Given the description of an element on the screen output the (x, y) to click on. 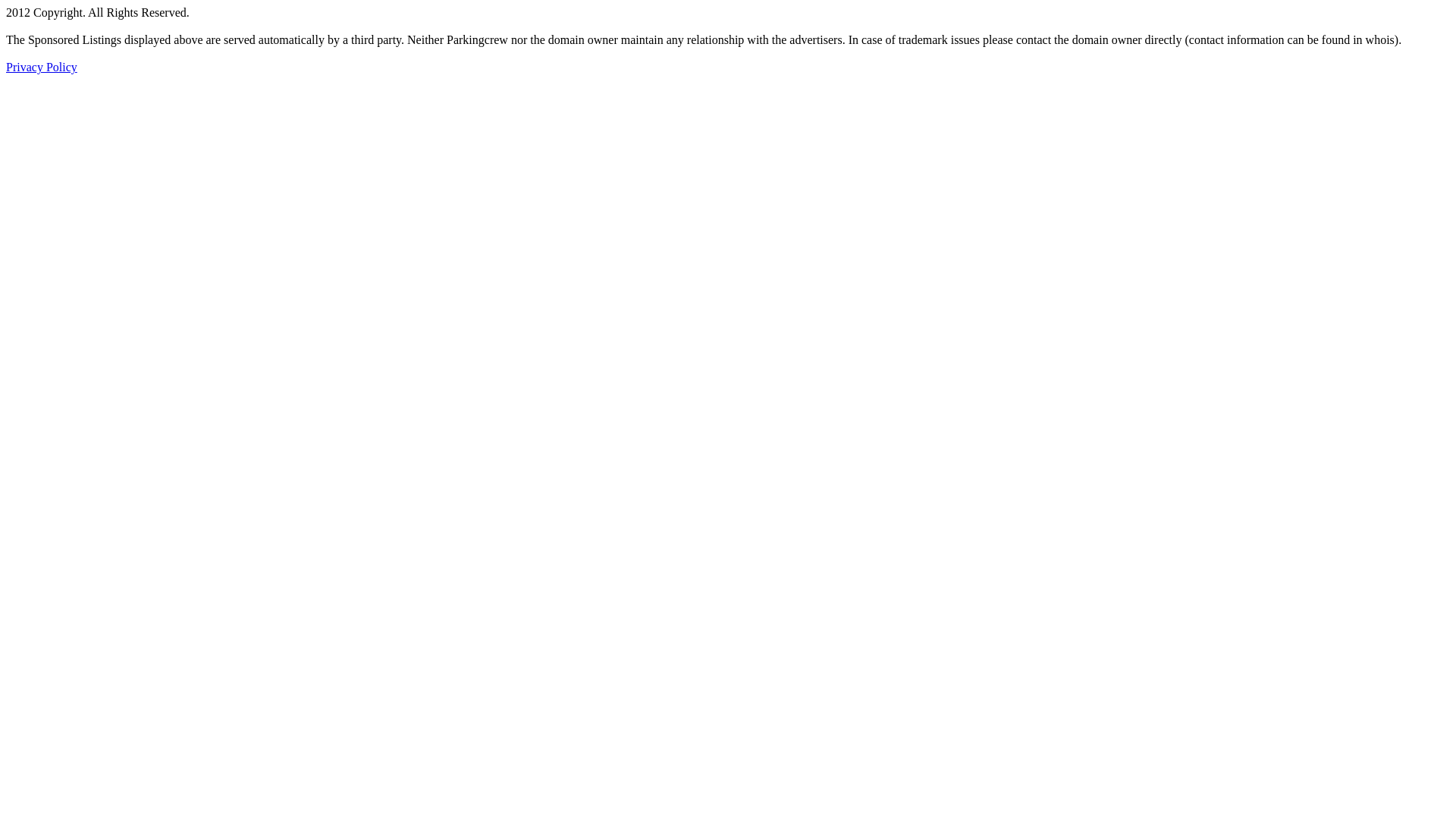
Privacy Policy Element type: text (41, 66)
